Given the description of an element on the screen output the (x, y) to click on. 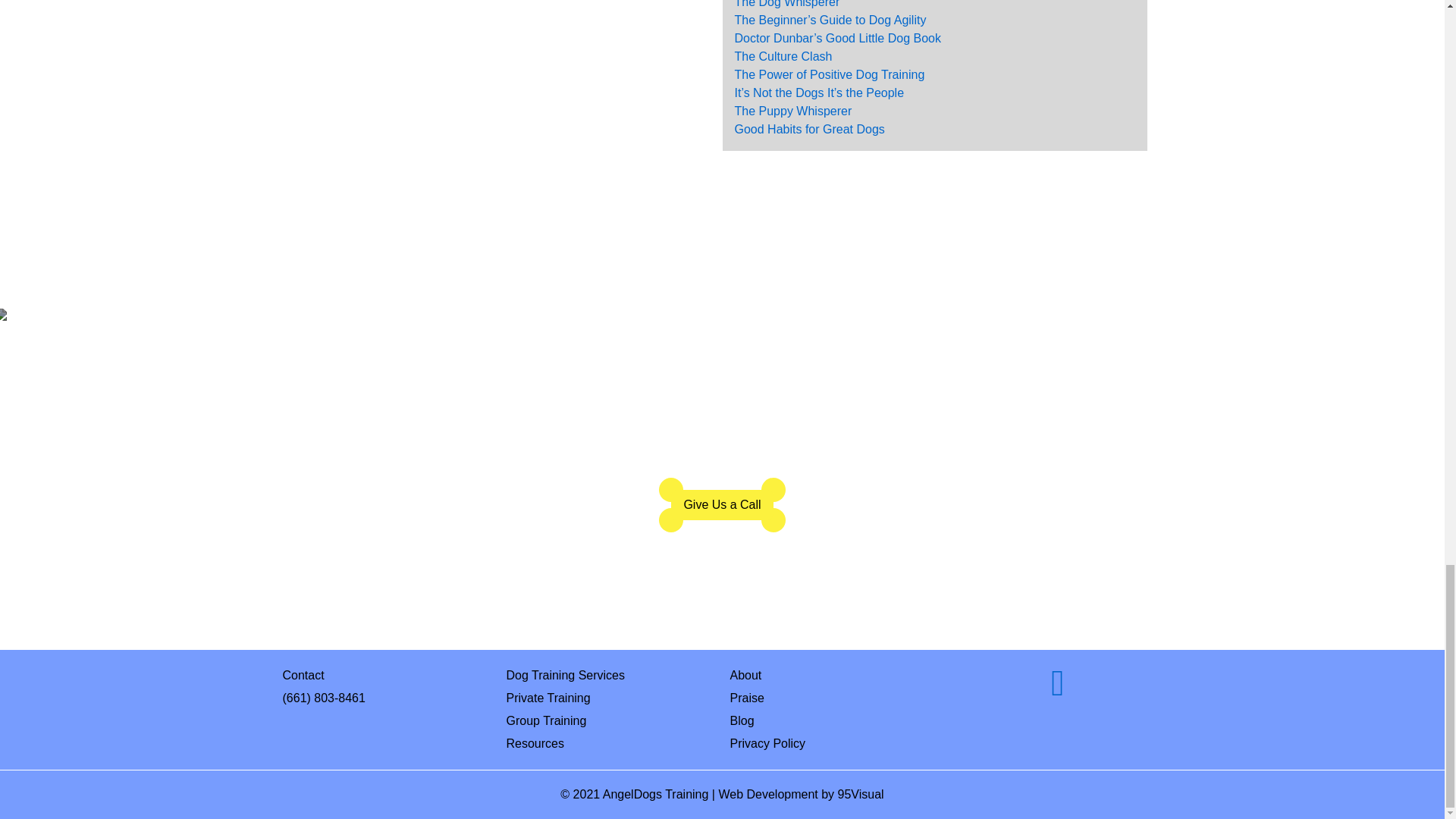
Give Us a Call (722, 504)
The Puppy Whisperer (792, 110)
Good Habits for Great Dogs (808, 128)
The Culture Clash (782, 56)
The Dog Whisperer (786, 4)
The Power of Positive Dog Training (828, 74)
Contact (386, 675)
